Given the description of an element on the screen output the (x, y) to click on. 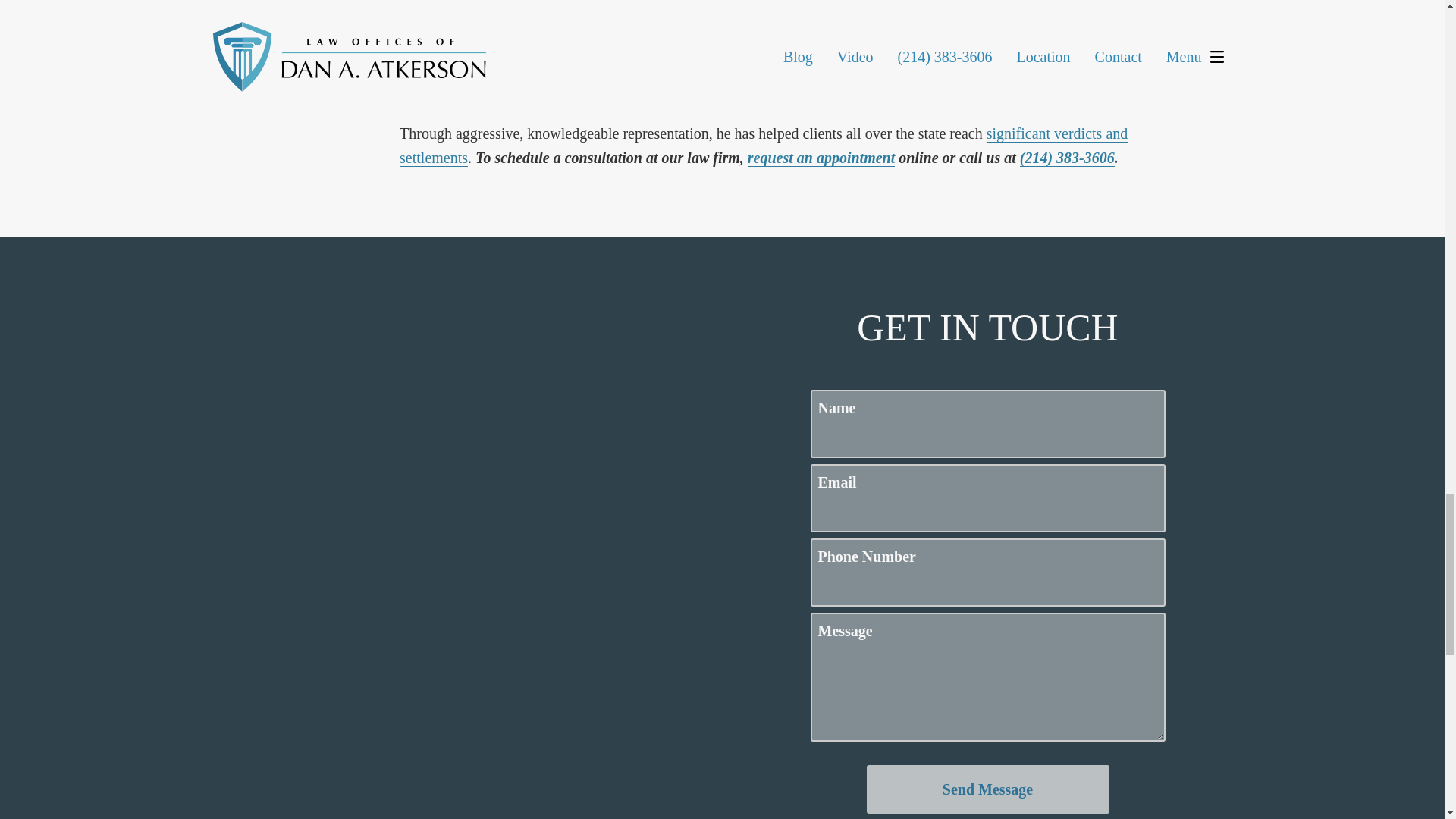
significant verdicts and settlements (762, 146)
Send Message (987, 789)
request an appointment (821, 158)
